Given the description of an element on the screen output the (x, y) to click on. 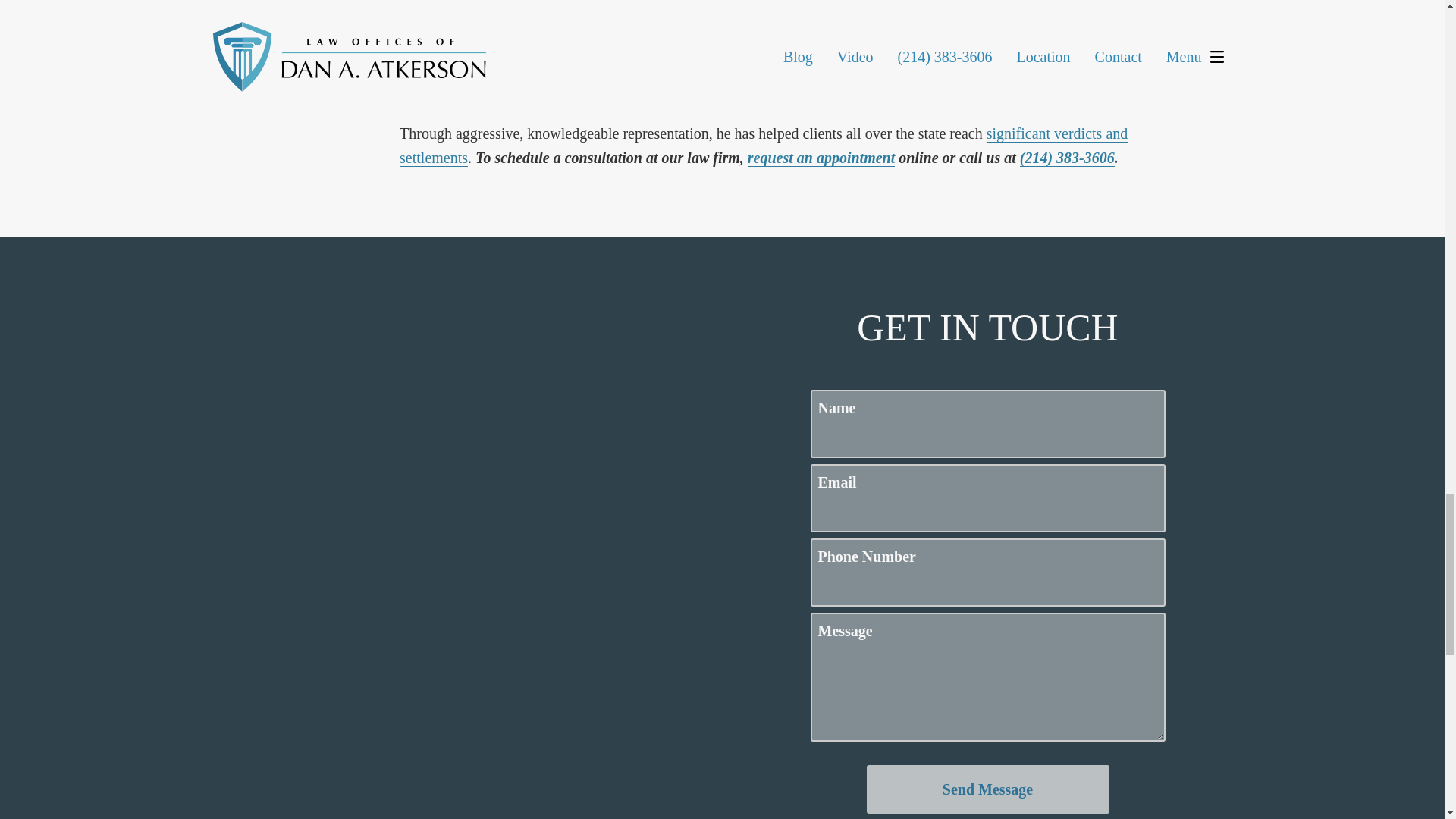
significant verdicts and settlements (762, 146)
Send Message (987, 789)
request an appointment (821, 158)
